Given the description of an element on the screen output the (x, y) to click on. 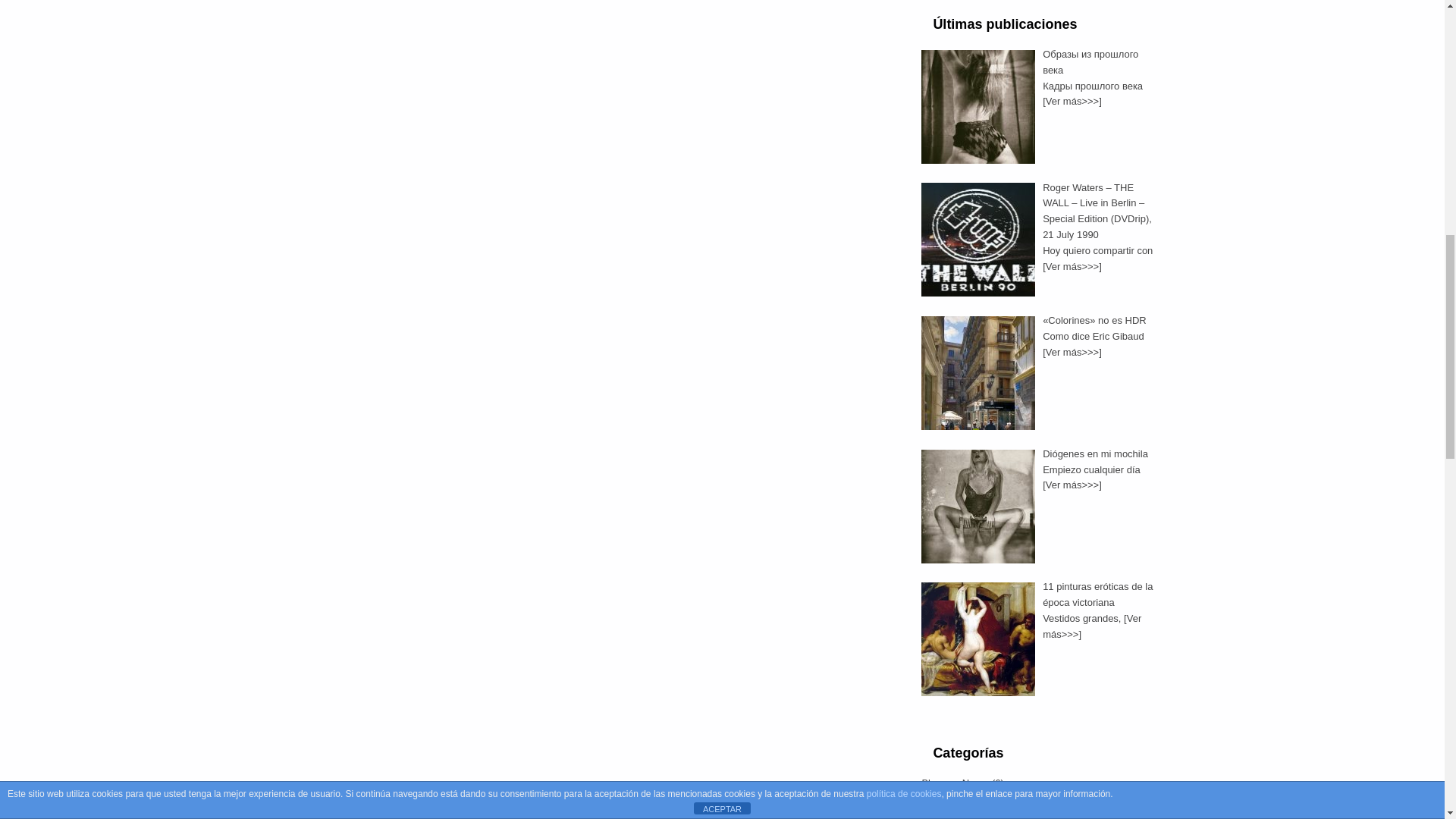
Blanco y Negro (954, 782)
